Given the description of an element on the screen output the (x, y) to click on. 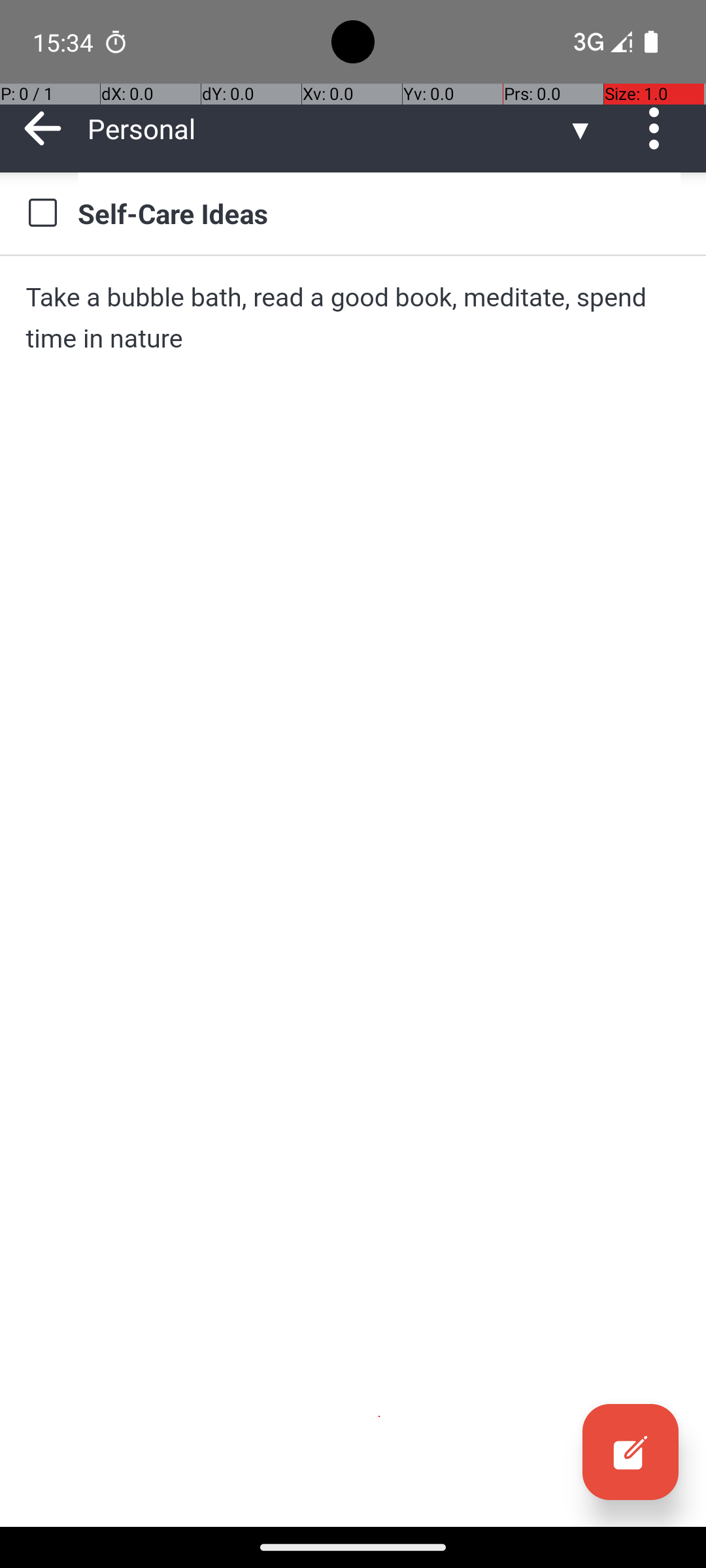
Self-Care Ideas Element type: android.widget.EditText (378, 213)
Take a bubble bath, read a good book, meditate, spend time in nature Element type: android.widget.TextView (352, 317)
